Given the description of an element on the screen output the (x, y) to click on. 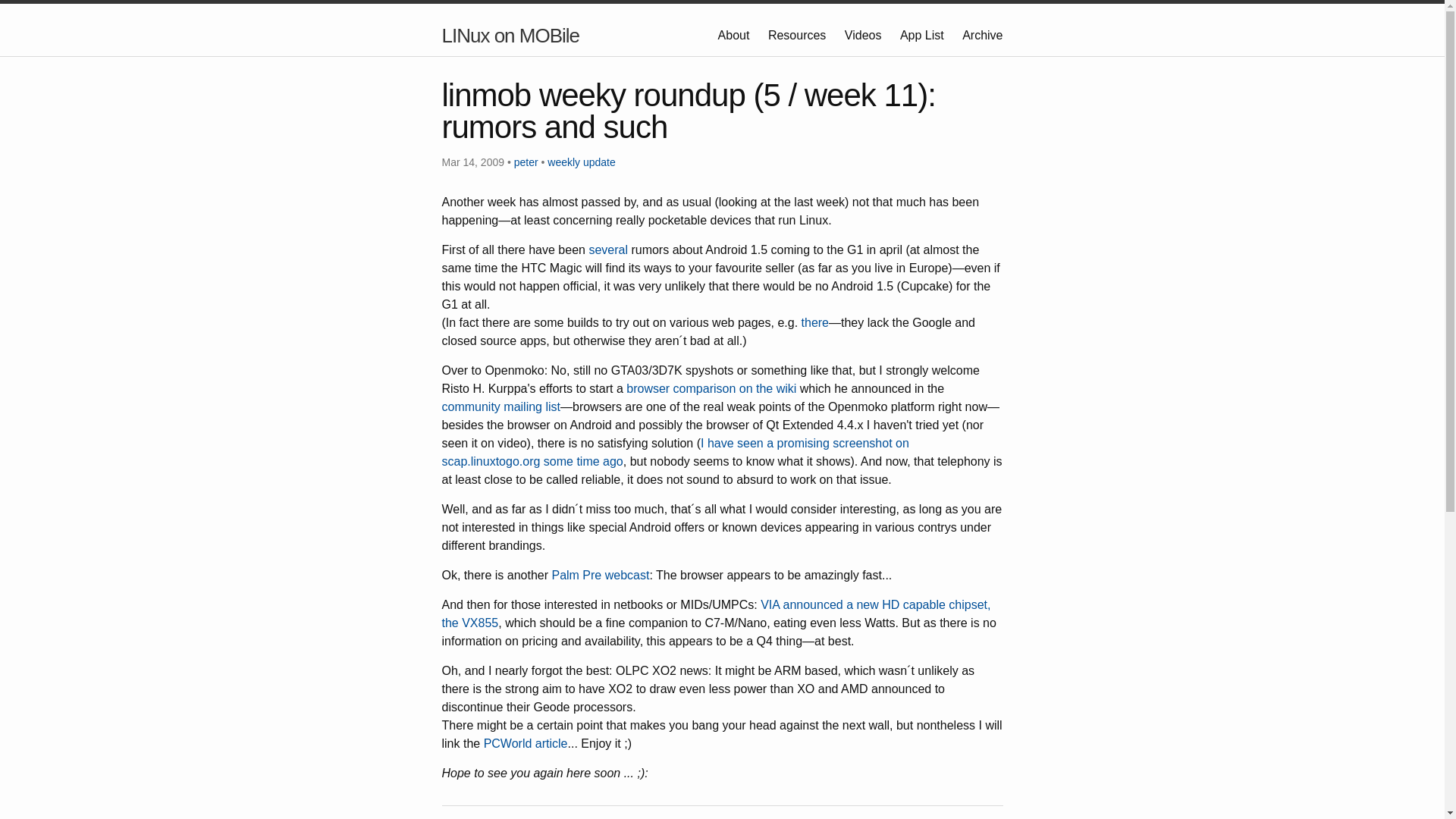
About (734, 34)
PCWorld article (525, 743)
there (815, 322)
Palm Pre webcast (600, 574)
Resources (798, 34)
browser comparison on the wiki (711, 388)
several (607, 249)
LINux on MOBile (510, 35)
community mailing list (500, 406)
Videos (864, 34)
